Given the description of an element on the screen output the (x, y) to click on. 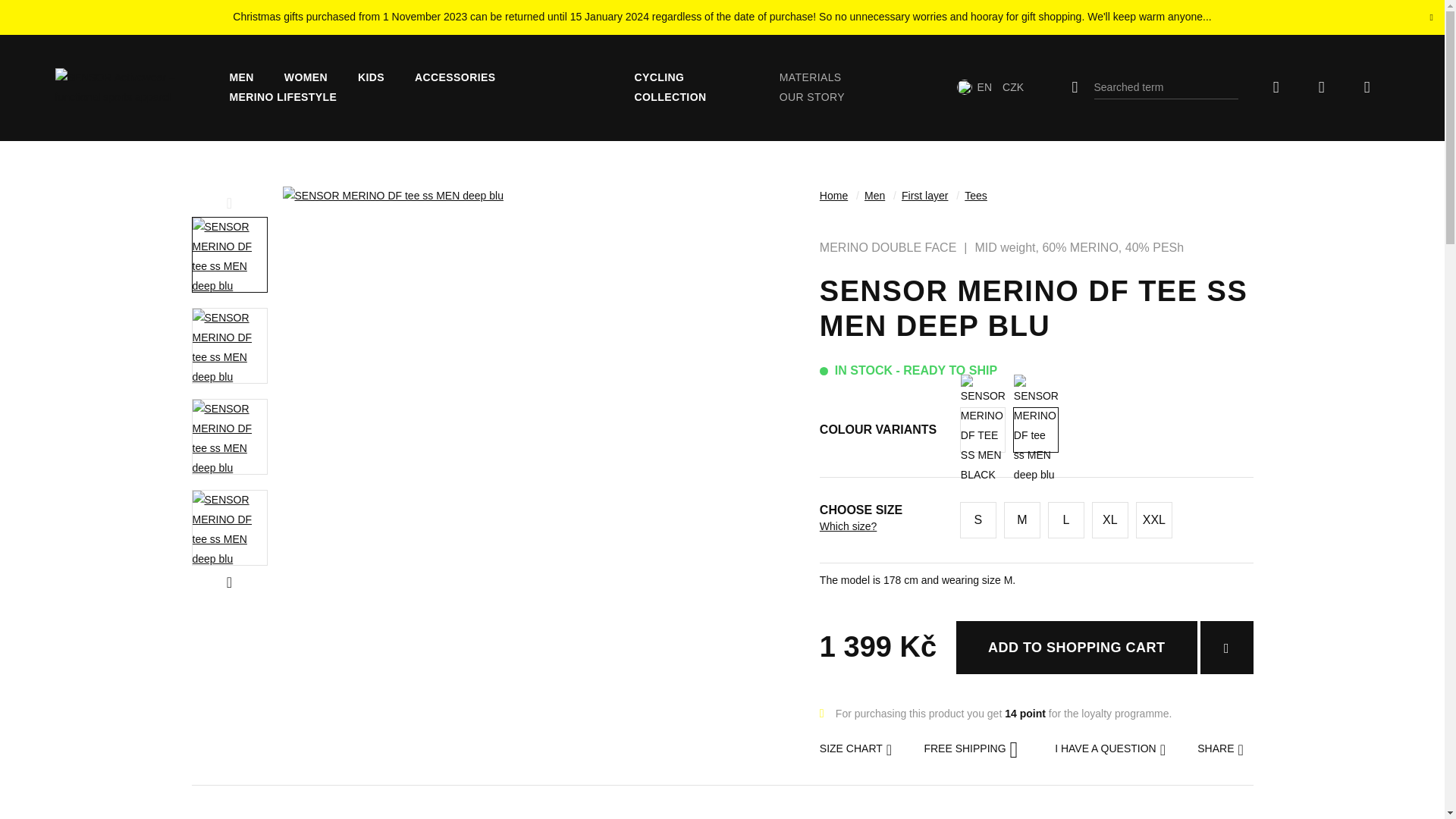
Add to favorites (1225, 647)
MEN (240, 77)
SENSOR MERINO DF tee ss MEN deep blu (1035, 429)
Add to shopping cart (1076, 647)
SENSOR MERINO DF TEE SS MEN BLACK (982, 429)
